Given the description of an element on the screen output the (x, y) to click on. 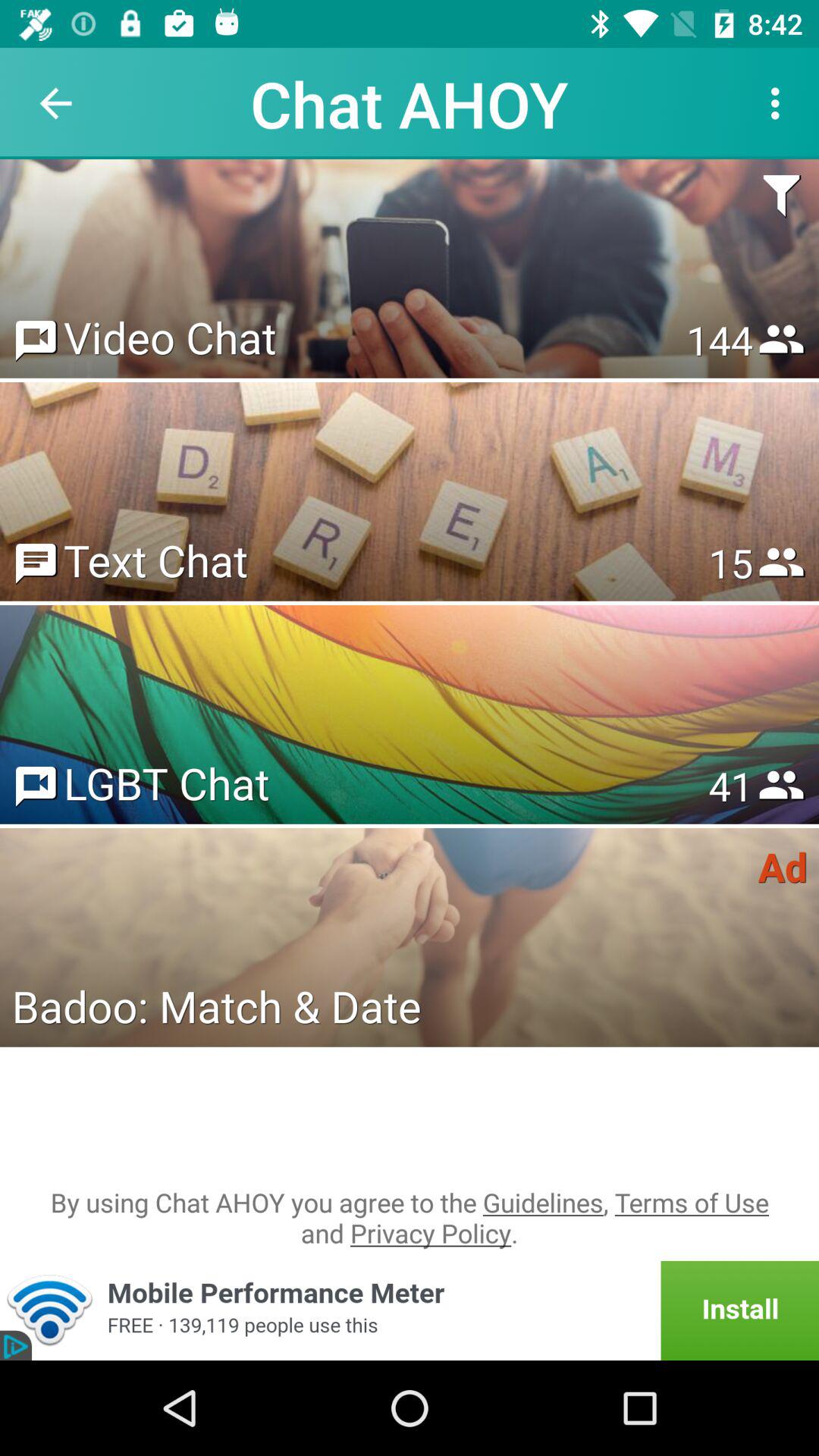
turn off by using chat item (409, 1217)
